Given the description of an element on the screen output the (x, y) to click on. 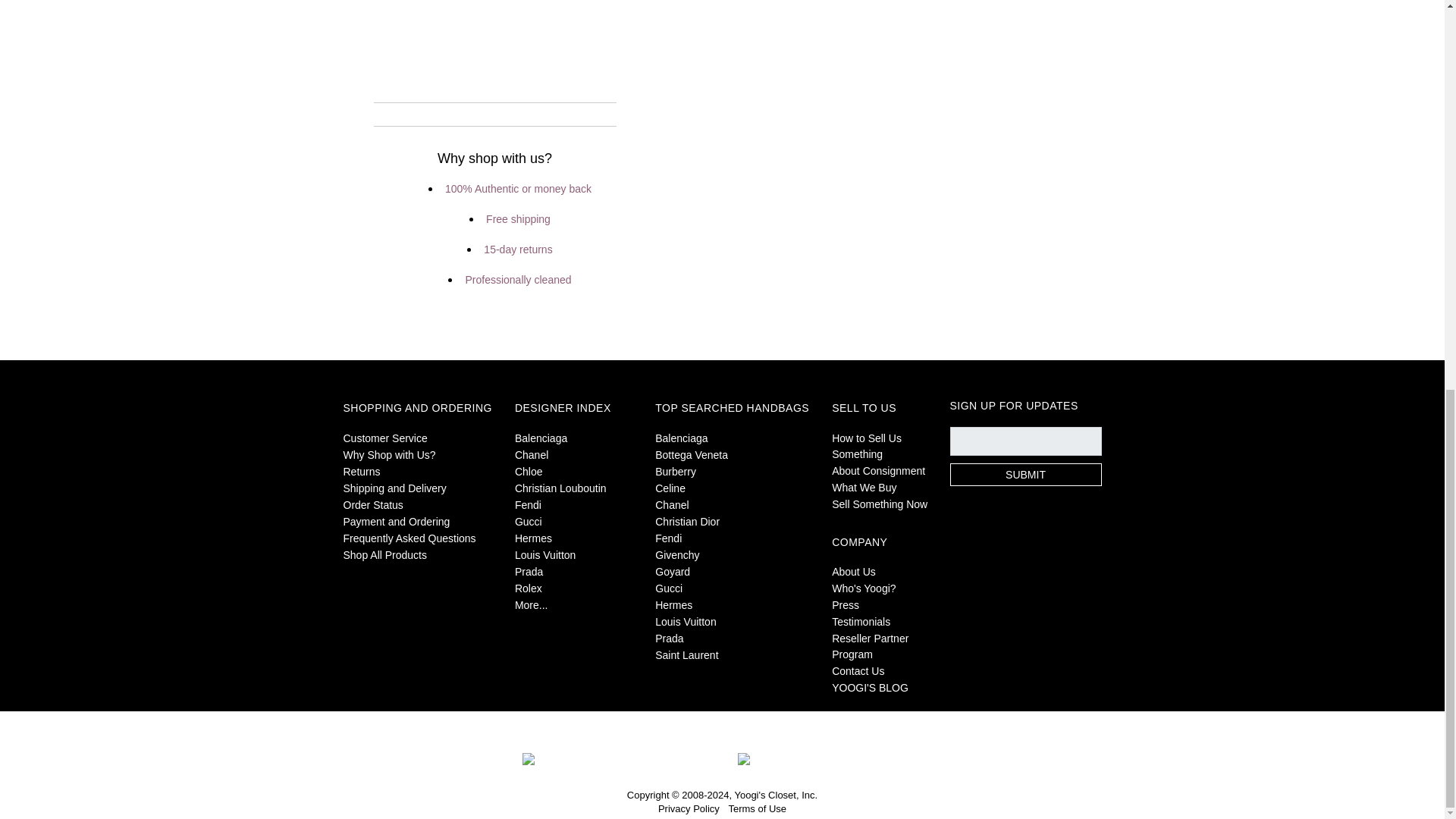
Follow us on Instagram (1089, 524)
Follow us on Facebook (952, 524)
Follow us on Pinterest (1043, 524)
Follow us on Twitter (998, 524)
Guaranteed Authentic by Yoogi''s Closet (622, 757)
